Given the description of an element on the screen output the (x, y) to click on. 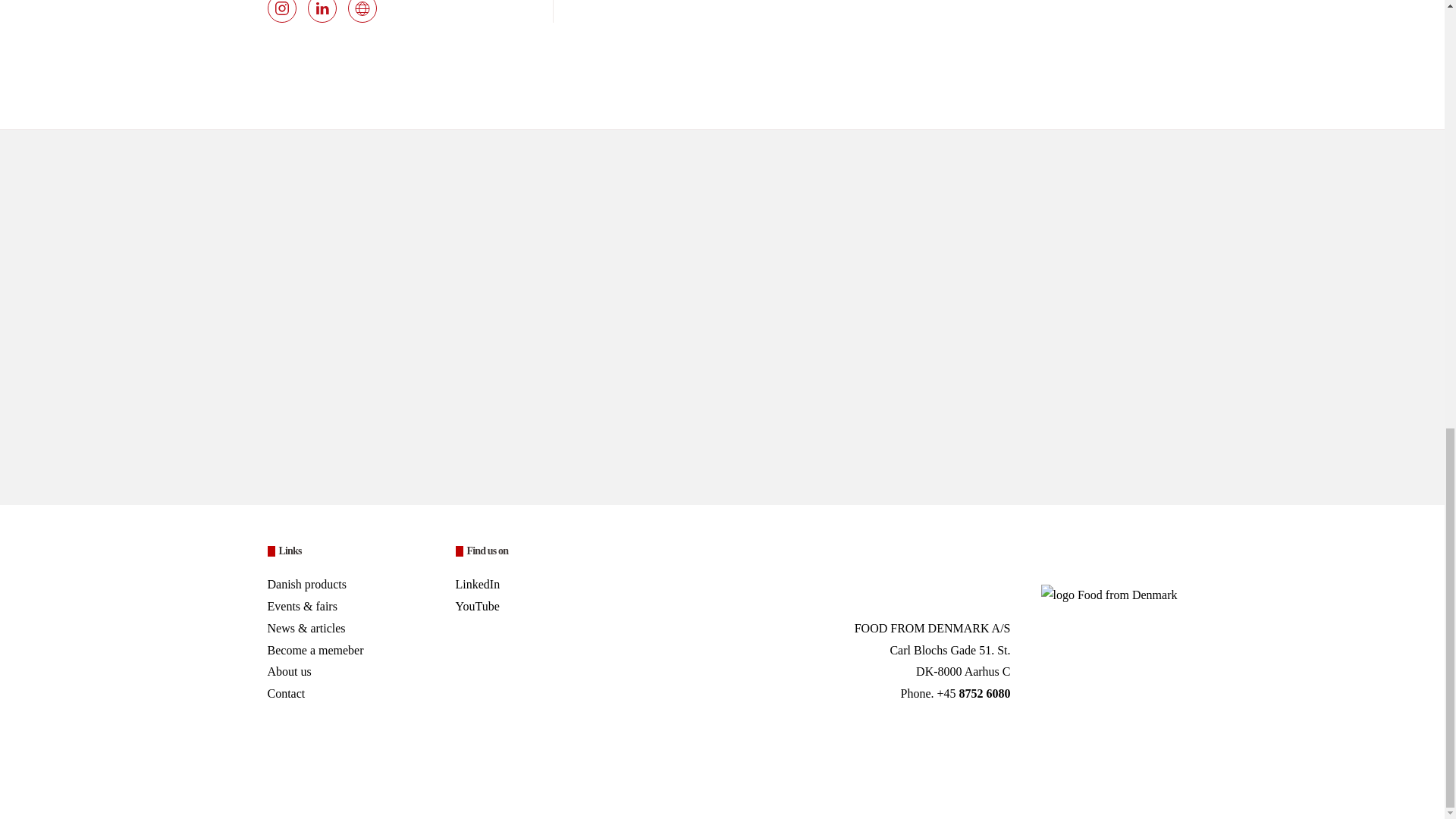
About us (288, 671)
Contact (285, 693)
Become a memeber (345, 650)
YouTube (476, 605)
Danish products (306, 584)
LinkedIn (476, 584)
